Given the description of an element on the screen output the (x, y) to click on. 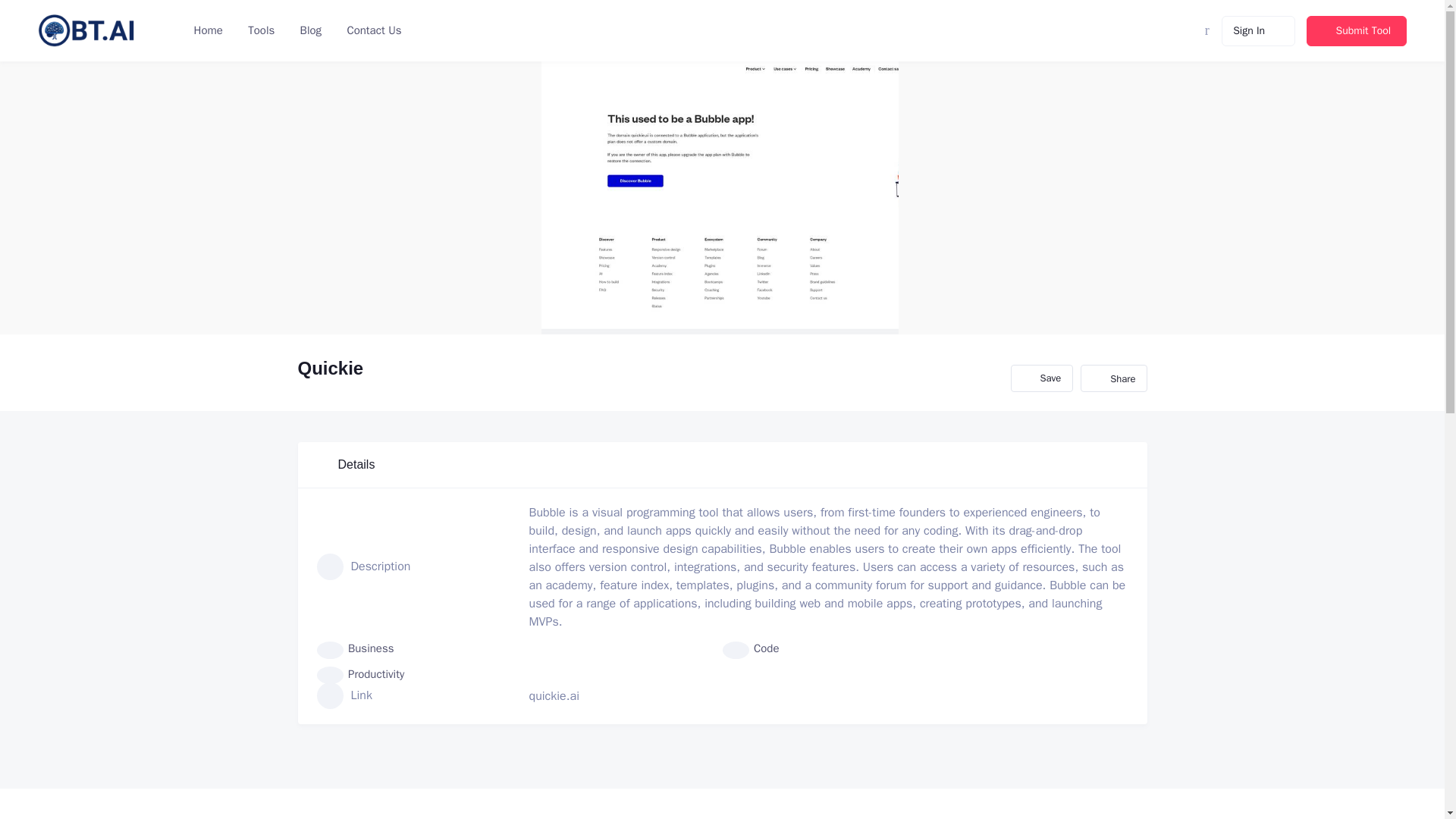
Productivity (360, 673)
quickie.ai (554, 695)
Business (355, 648)
Sign In (1258, 30)
Blog (309, 30)
Submit Tool (1356, 30)
Home (207, 30)
Code (750, 648)
Tools (259, 30)
Contact Us (372, 30)
